Given the description of an element on the screen output the (x, y) to click on. 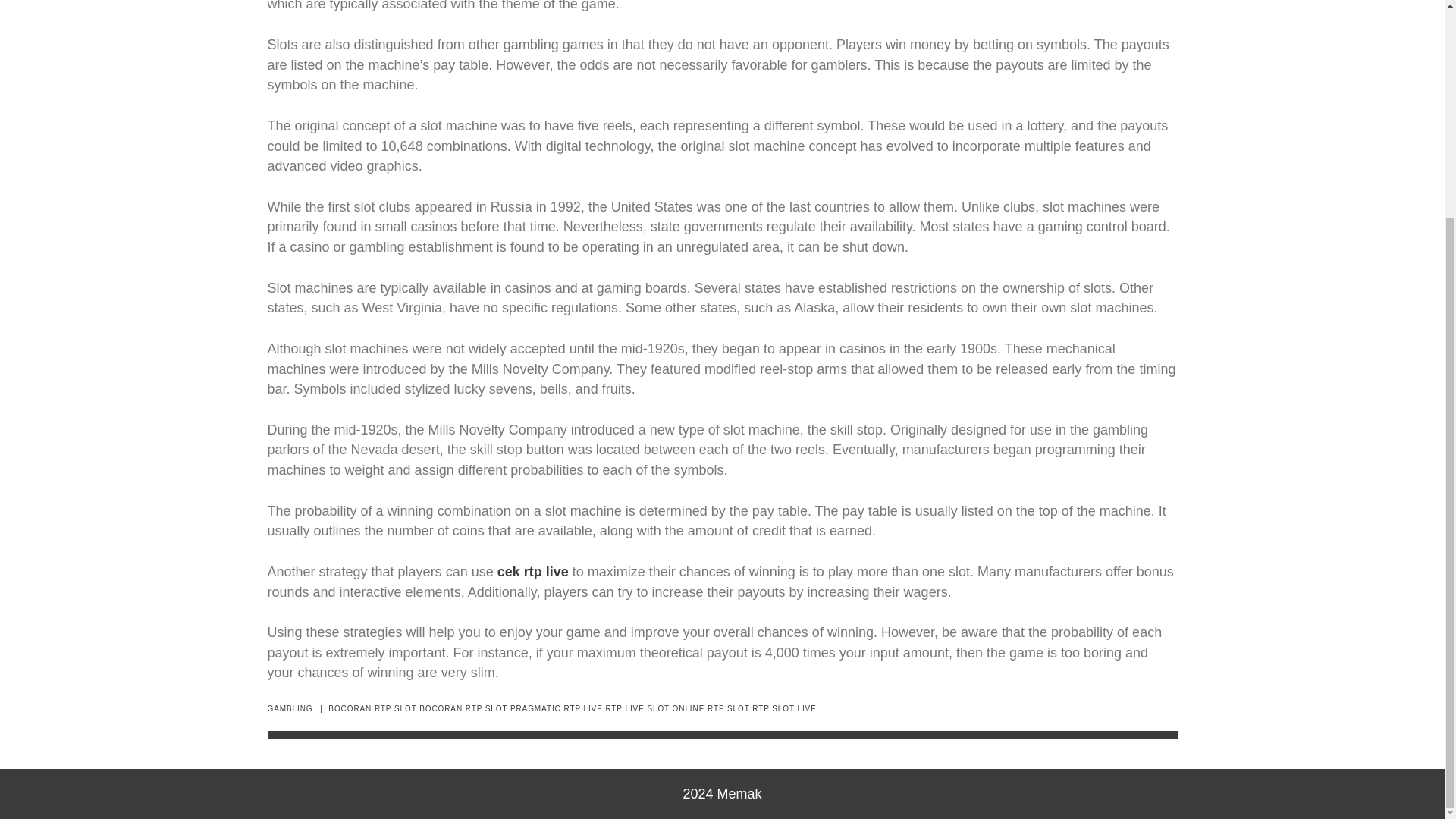
RTP LIVE (582, 708)
RTP LIVE SLOT ONLINE (654, 708)
GAMBLING (289, 708)
RTP SLOT (728, 708)
RTP SLOT LIVE (784, 708)
cek rtp live (533, 571)
BOCORAN RTP SLOT (372, 708)
BOCORAN RTP SLOT PRAGMATIC (489, 708)
